Given the description of an element on the screen output the (x, y) to click on. 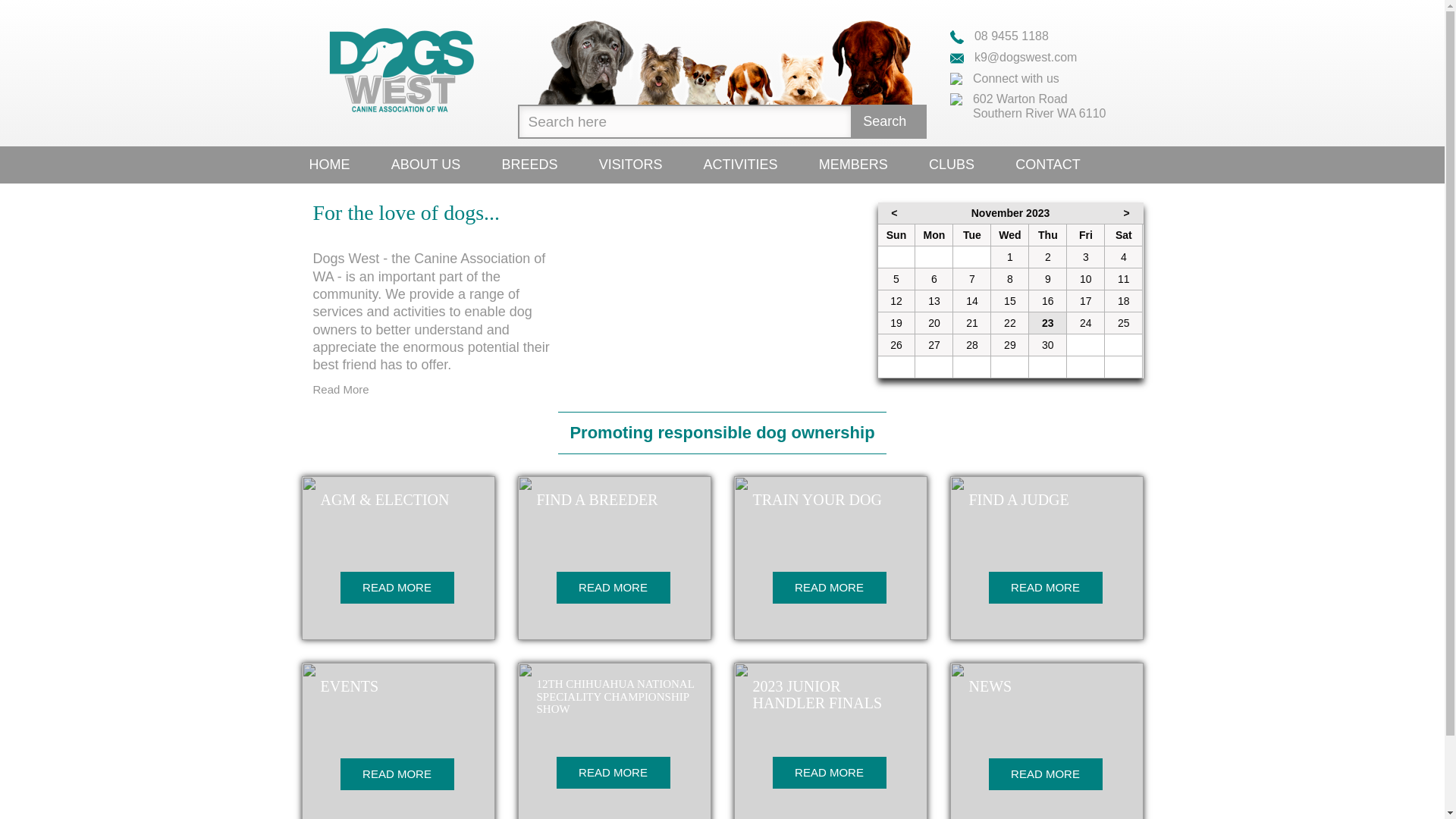
Read More Element type: text (340, 388)
READ MORE Element type: text (1045, 587)
READ MORE Element type: text (1045, 774)
BREEDS Element type: text (529, 164)
READ MORE Element type: text (396, 774)
MEMBERS Element type: text (853, 164)
CONTACT Element type: text (1048, 164)
READ MORE Element type: text (613, 587)
VISITORS Element type: text (630, 164)
602 Warton Road
Southern River WA 6110 Element type: text (1031, 98)
CLUBS Element type: text (951, 164)
Search Element type: text (888, 121)
k9@dogswest.com Element type: text (1012, 56)
Connect with us Element type: text (1003, 78)
READ MORE Element type: text (828, 587)
HOME Element type: text (328, 164)
08 9455 1188 Element type: text (998, 35)
READ MORE Element type: text (396, 587)
READ MORE Element type: text (828, 772)
READ MORE Element type: text (613, 772)
ABOUT US Element type: text (425, 164)
ACTIVITIES Element type: text (740, 164)
